Given the description of an element on the screen output the (x, y) to click on. 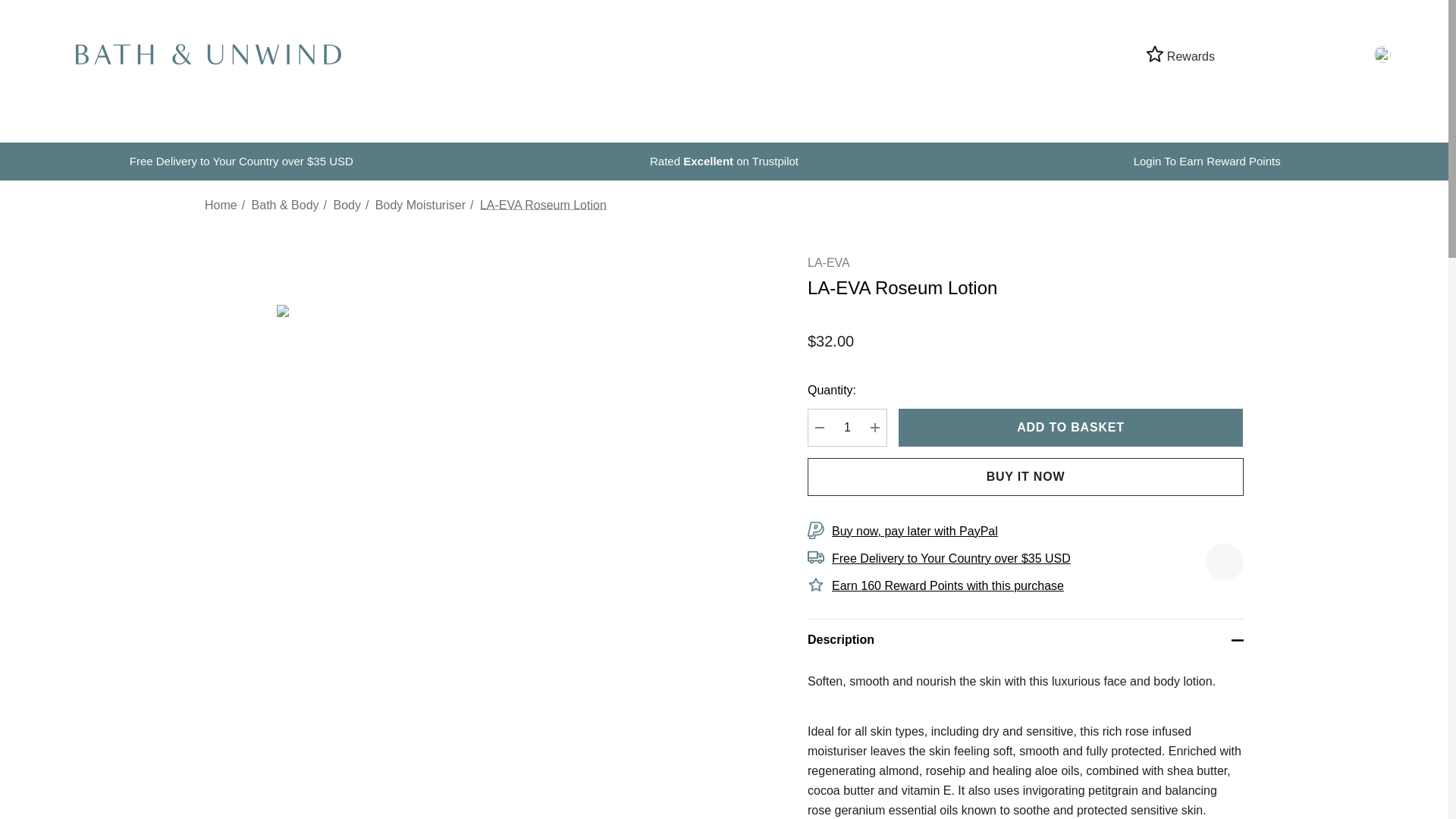
LIVE HELP LIVE HELP (1343, 53)
LIVE HELP LIVE HELP (1341, 53)
WISH LISTS WISH LISTS (1274, 53)
1 (847, 427)
Add to Basket (1070, 427)
WISH LISTS WISH LISTS (1273, 53)
ACCOUNT ACCOUNT (1240, 53)
YOUR BASKET YOUR BASKET (1308, 53)
Rewards (1180, 55)
LOGO SLATE GREENvector (207, 54)
